Given the description of an element on the screen output the (x, y) to click on. 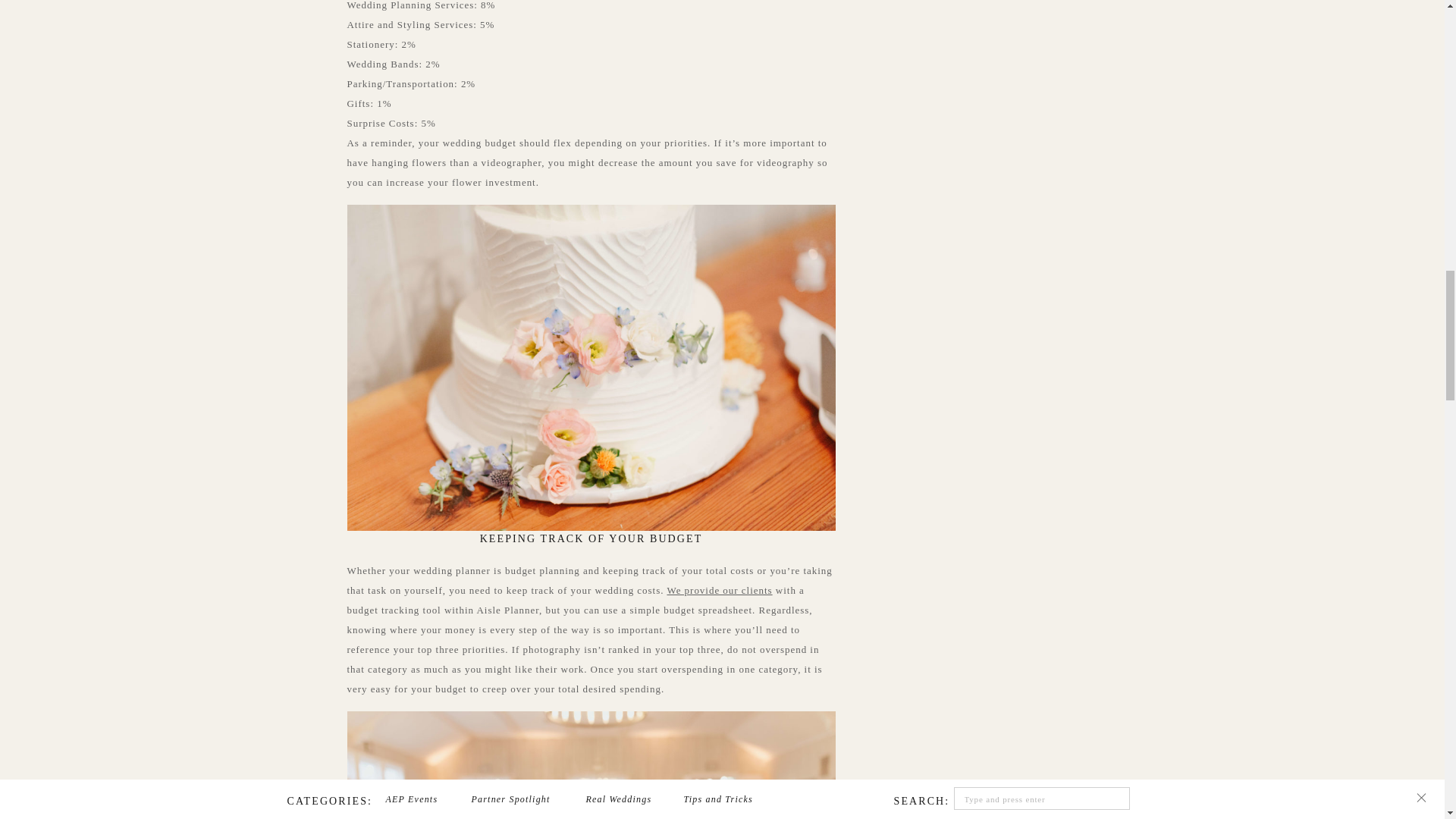
We provide our clients (718, 590)
